Given the description of an element on the screen output the (x, y) to click on. 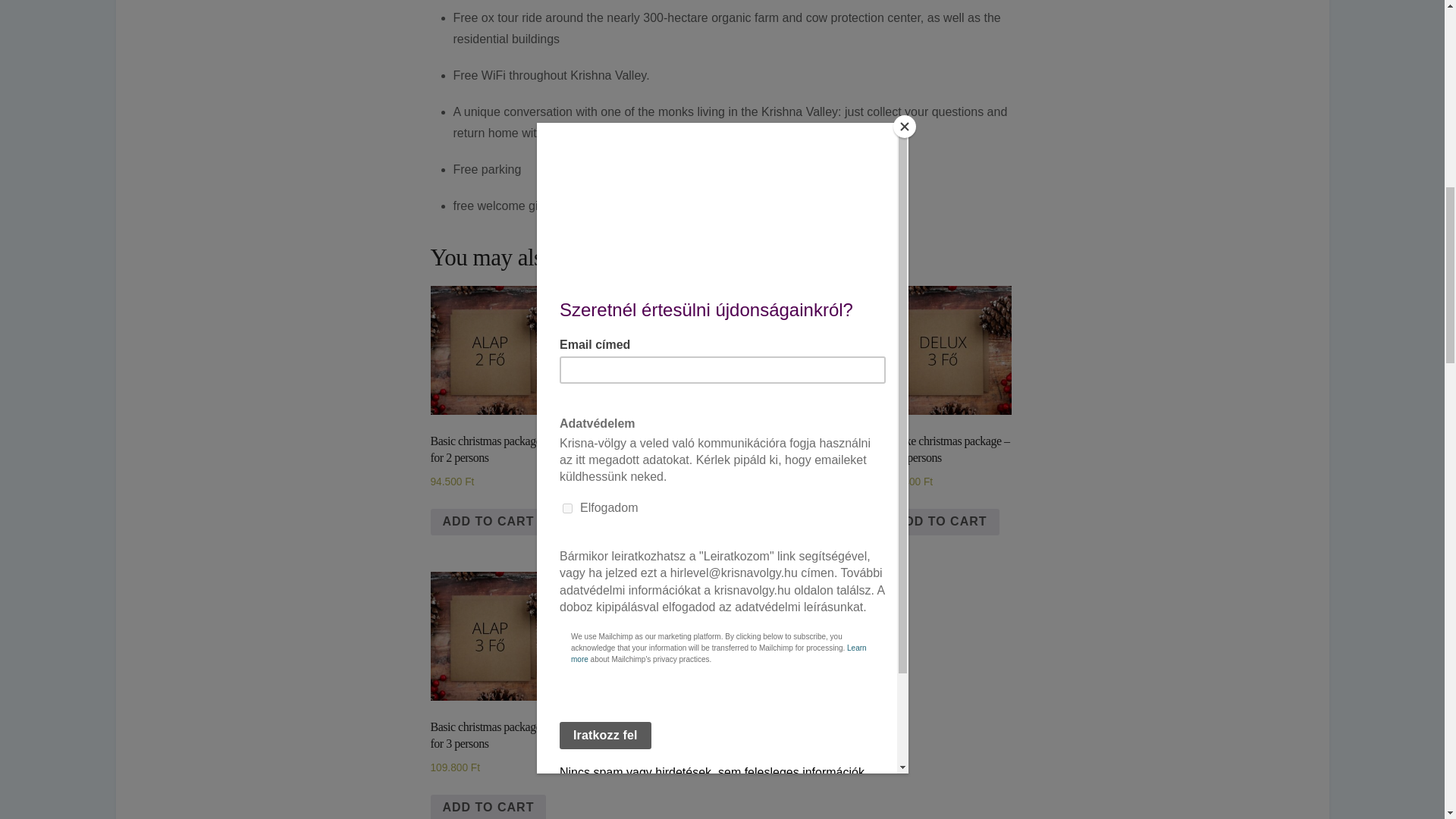
ADD TO CART (638, 522)
ADD TO CART (940, 522)
ADD TO CART (488, 806)
ADD TO CART (488, 522)
ADD TO CART (790, 522)
